Given the description of an element on the screen output the (x, y) to click on. 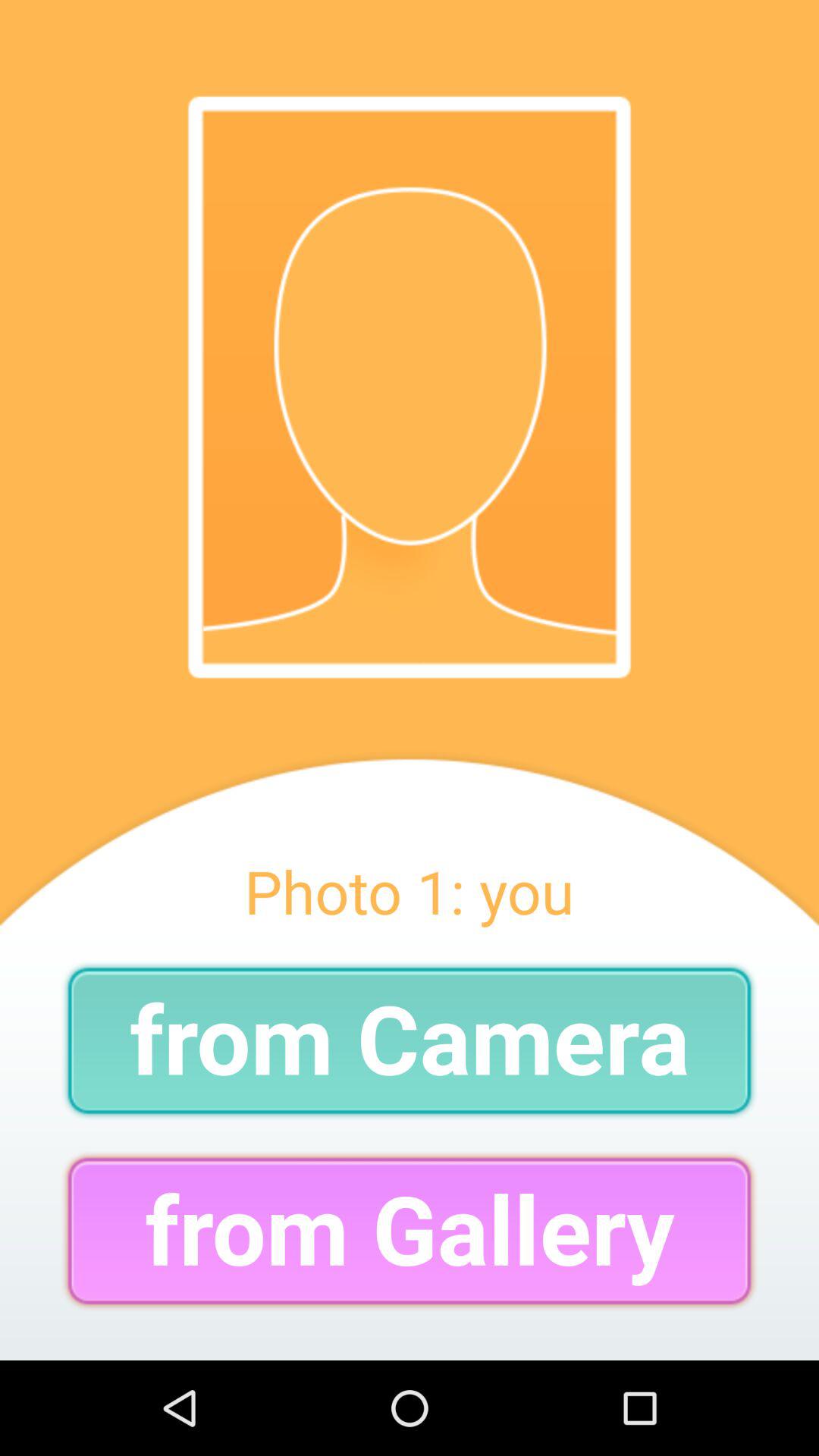
turn on icon below photo 1: you (409, 1040)
